Given the description of an element on the screen output the (x, y) to click on. 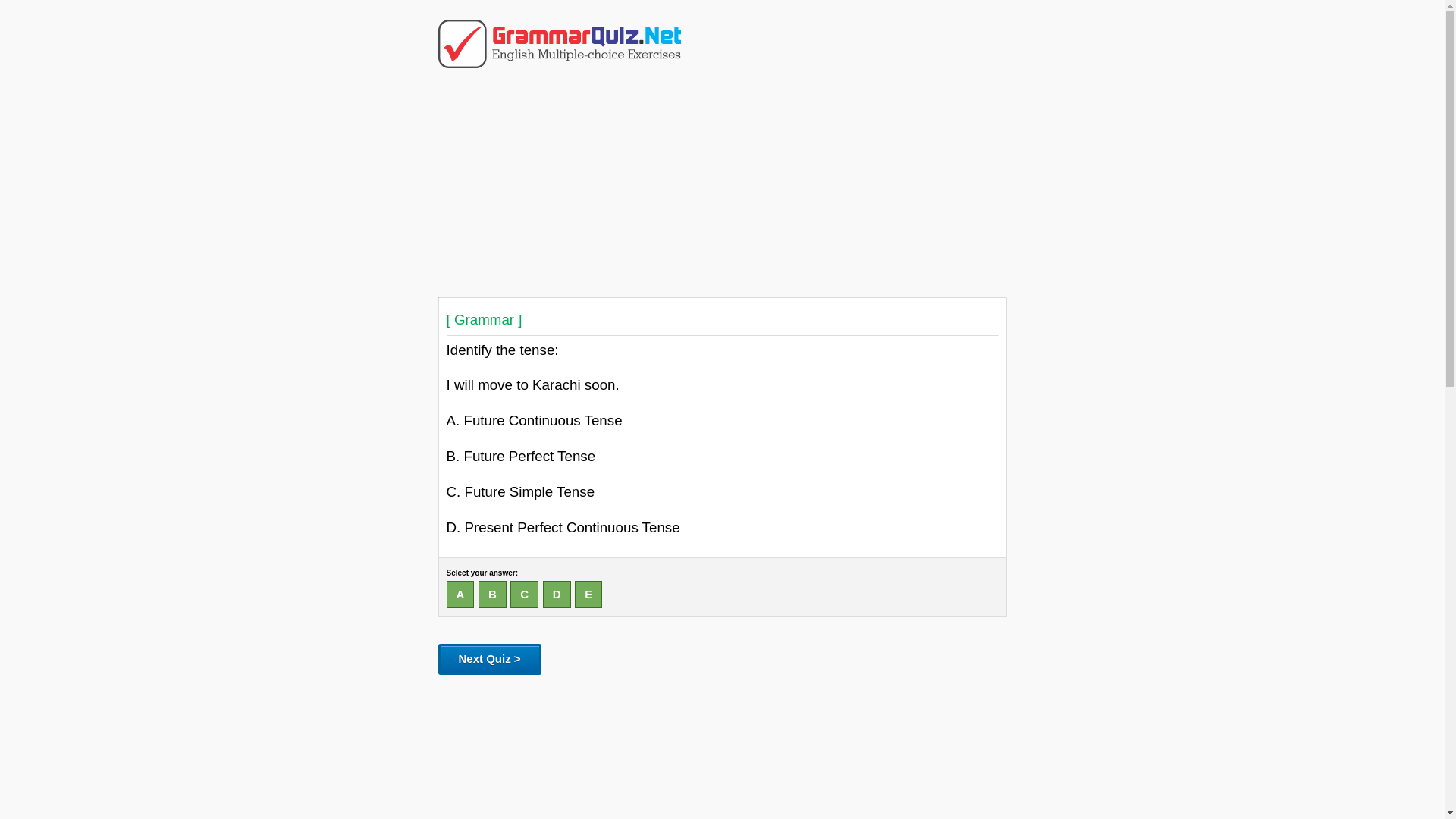
c (524, 594)
e (588, 594)
Advertisement (722, 187)
b (492, 594)
English Multiple Choice Test (559, 63)
b (492, 594)
c (524, 594)
d (556, 594)
a (459, 594)
e (588, 594)
d (556, 594)
a (459, 594)
Advertisement (722, 749)
